Given the description of an element on the screen output the (x, y) to click on. 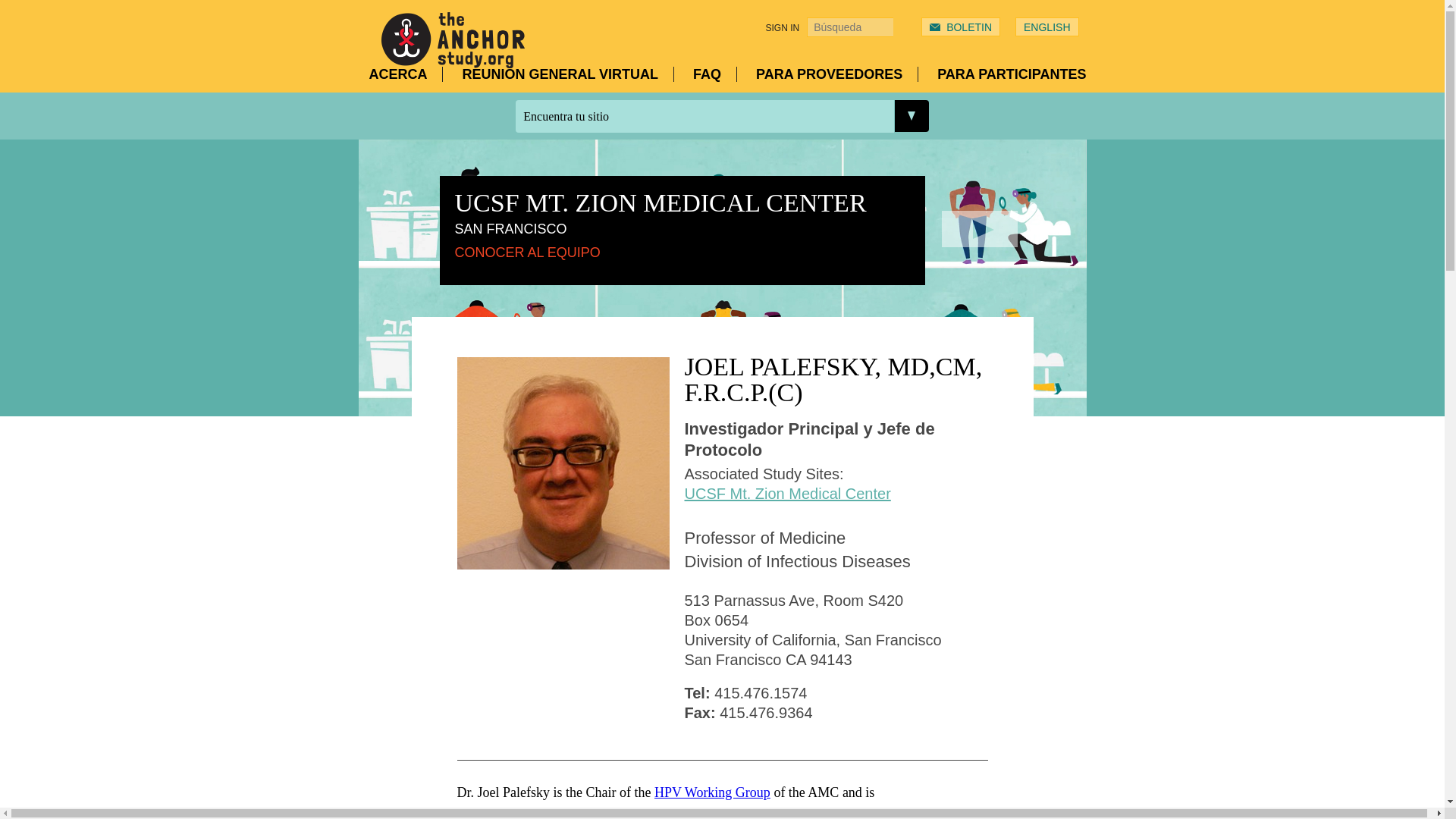
PARA PROVEEDORES (836, 73)
PARA PARTICIPANTES (1011, 73)
Search (902, 26)
Search (902, 26)
BOLETIN (968, 27)
Home (452, 57)
ACERCA (405, 73)
SIGN IN (782, 27)
Enter the terms you wish to search for. (849, 26)
ENGLISH (1046, 27)
FAQ (714, 73)
